Given the description of an element on the screen output the (x, y) to click on. 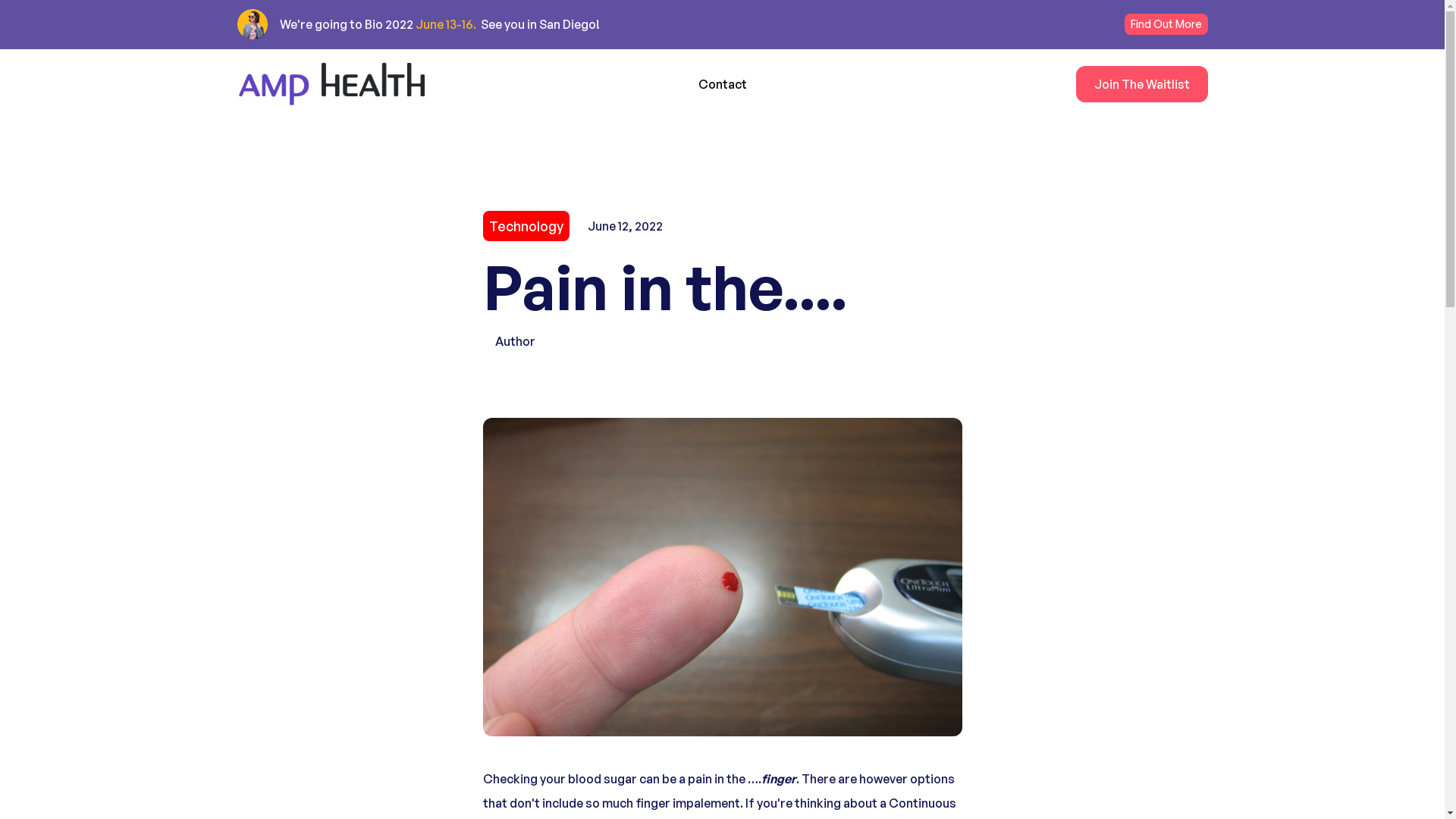
We're going to Bio 2022 June 13-16. Element type: text (378, 23)
Find Out More Element type: text (1165, 23)
Contact Element type: text (722, 84)
Author Element type: text (721, 341)
Join The Waitlist Element type: text (1141, 83)
